Given the description of an element on the screen output the (x, y) to click on. 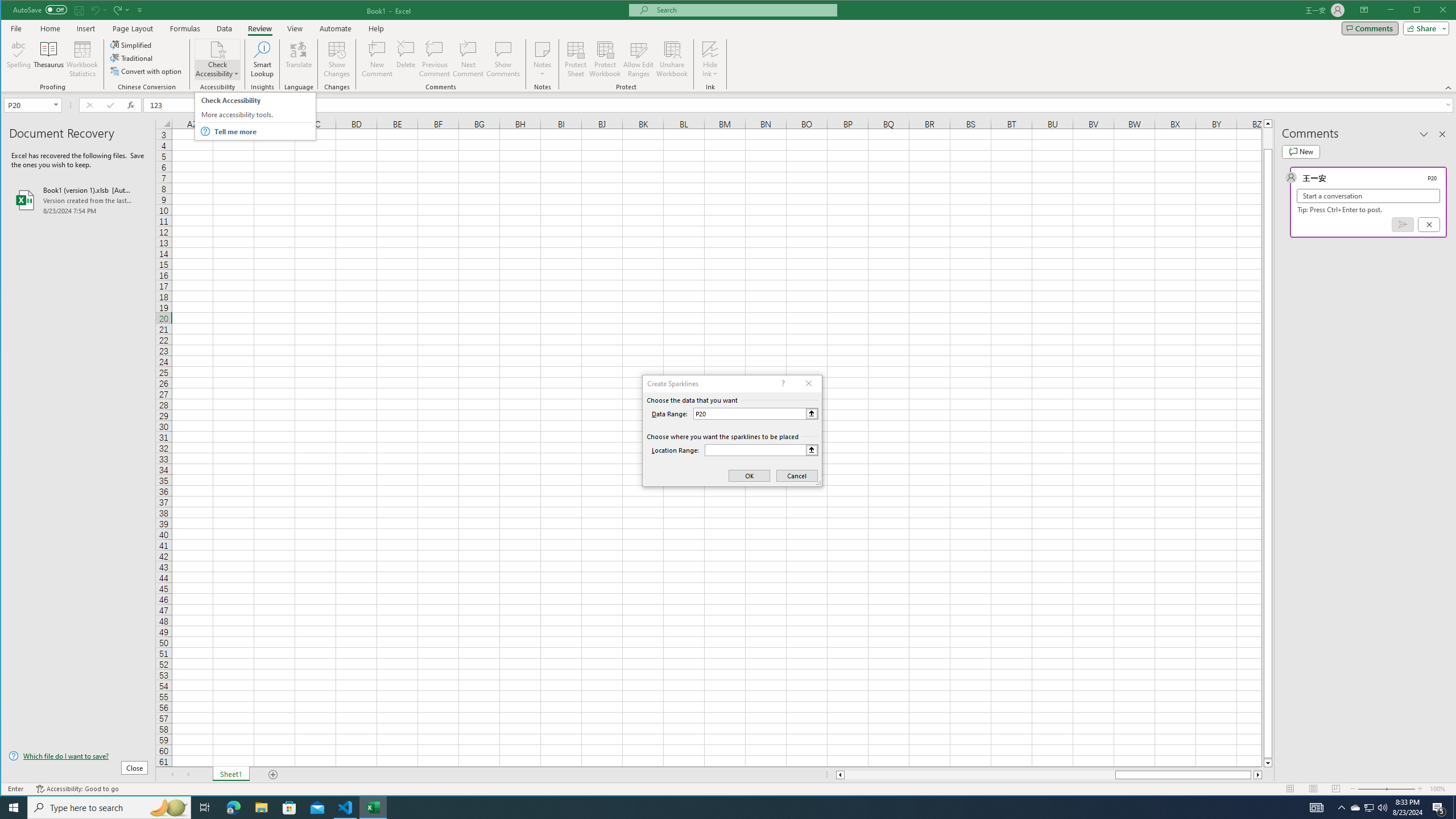
Simplified (132, 44)
